Given the description of an element on the screen output the (x, y) to click on. 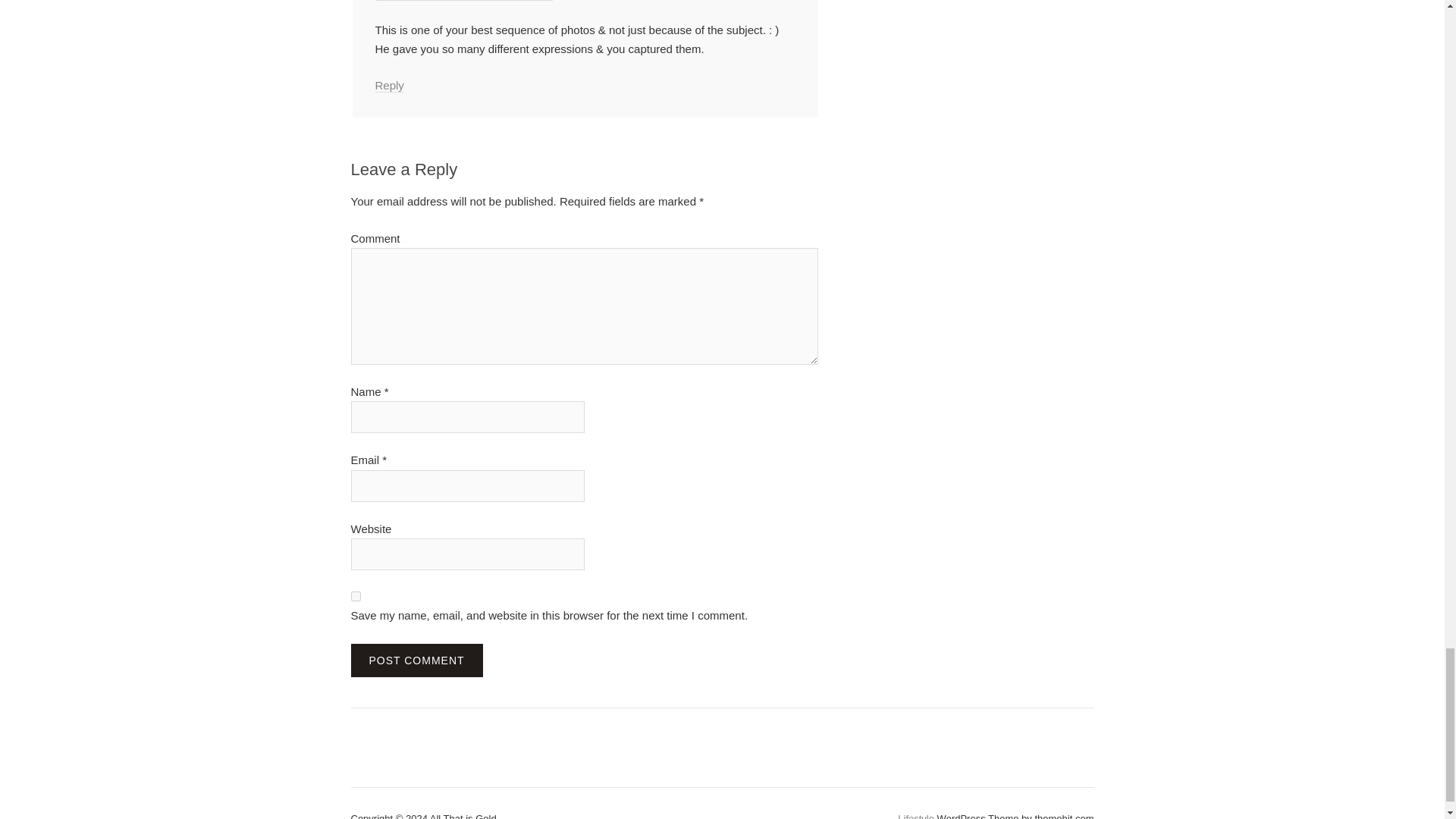
Post Comment (415, 660)
Post Comment (415, 660)
Reply (388, 85)
yes (354, 596)
